Given the description of an element on the screen output the (x, y) to click on. 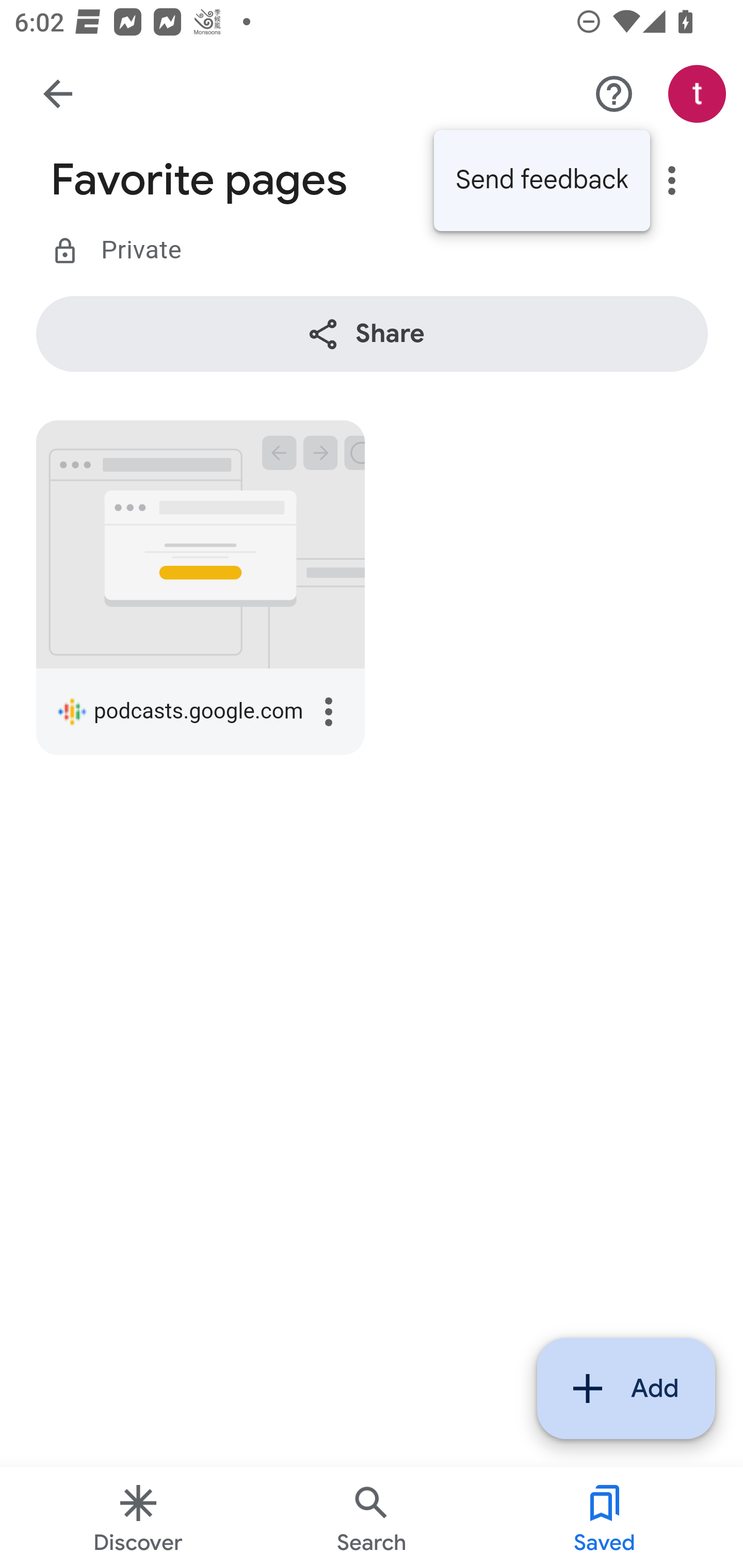
Go back (58, 93)
More options (614, 94)
Send feedback (542, 181)
More options (672, 180)
Share (372, 333)
More options (329, 712)
Add (626, 1388)
Discover (137, 1517)
Search (371, 1517)
